Given the description of an element on the screen output the (x, y) to click on. 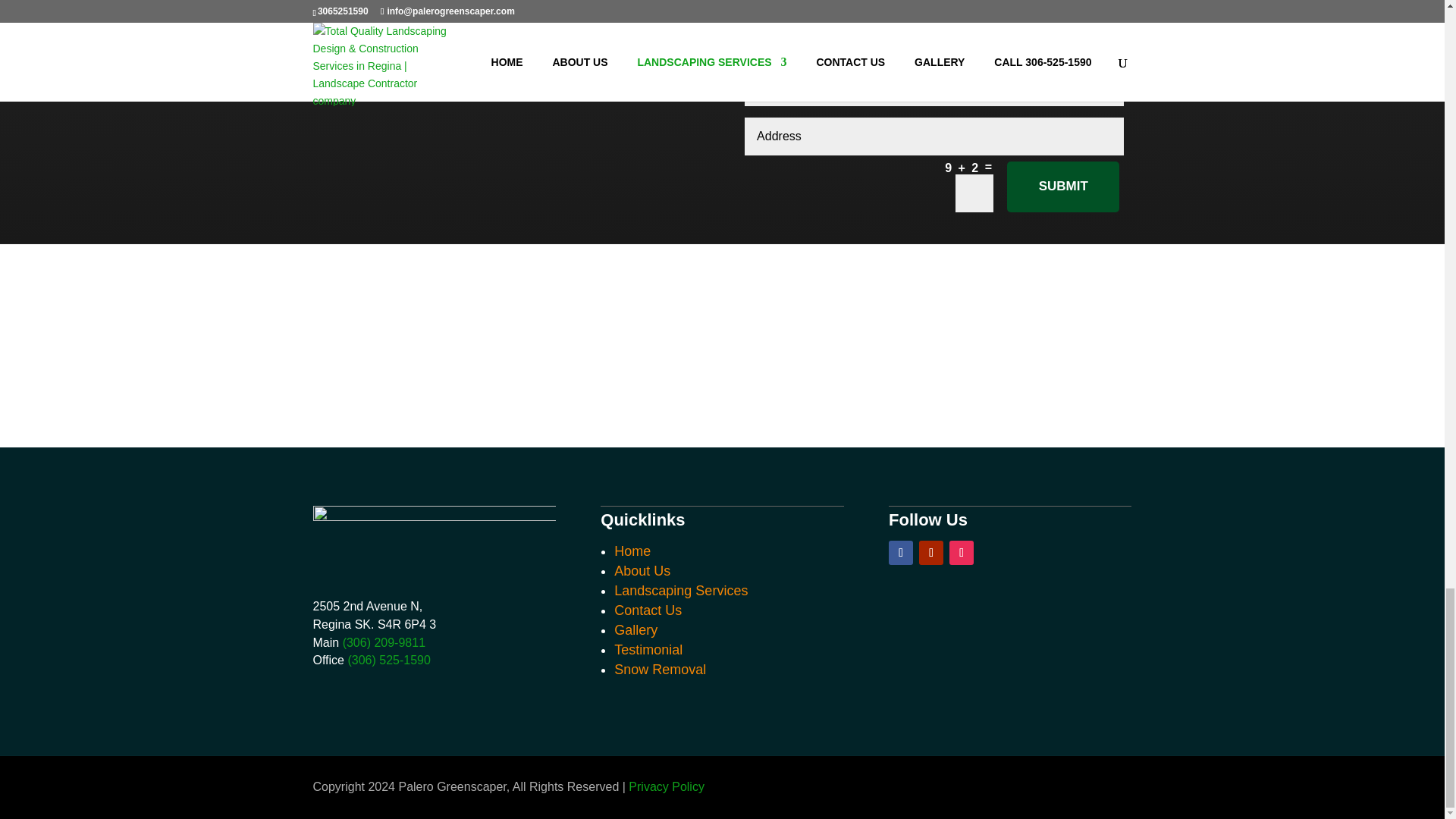
Only numbers allowed. (934, 86)
Follow on Facebook (900, 552)
About Us (641, 570)
Follow on Instagram (961, 552)
Landscaping Services (681, 590)
Home (632, 550)
Follow on Youtube (930, 552)
SUBMIT (1063, 186)
